Given the description of an element on the screen output the (x, y) to click on. 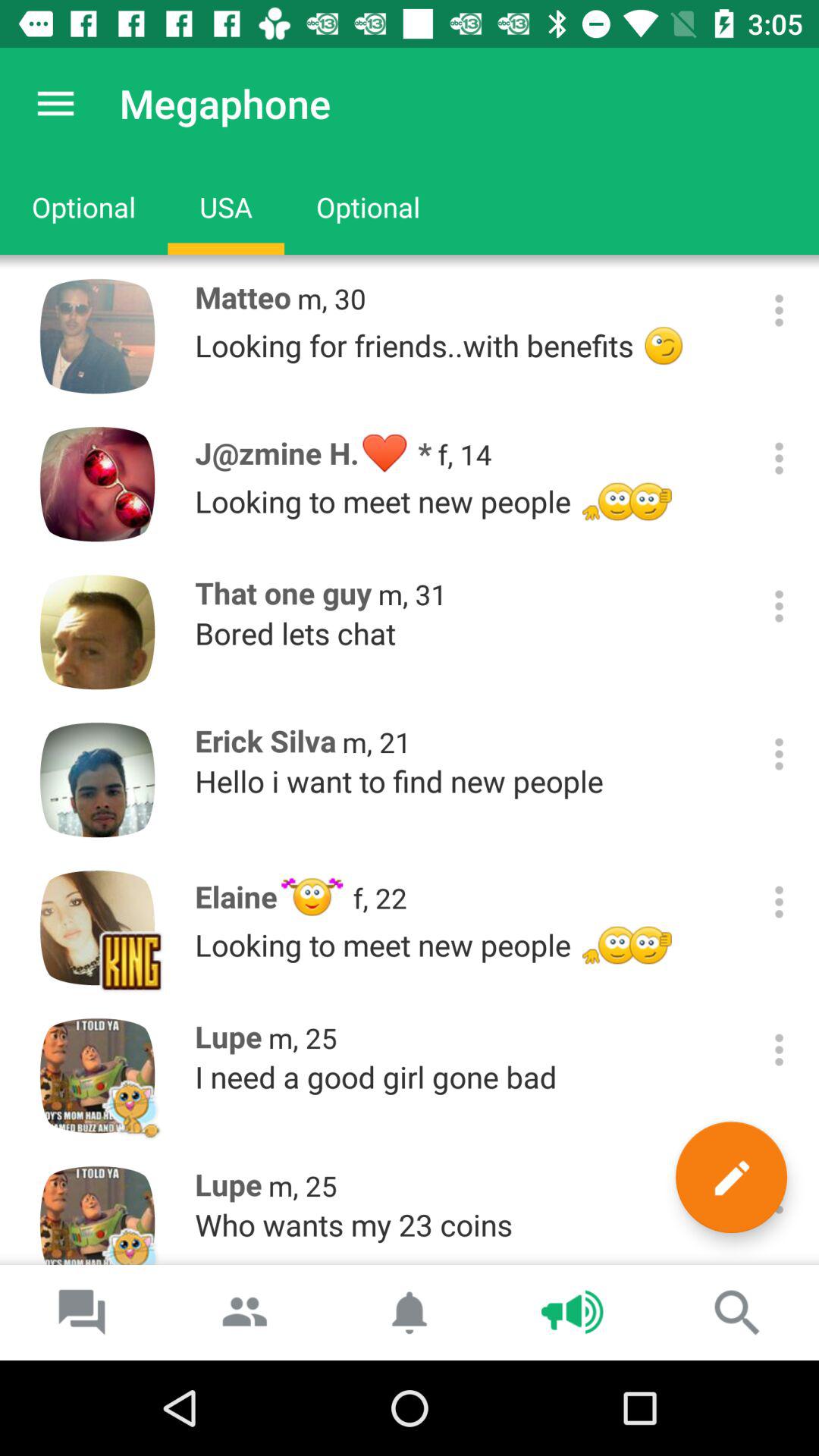
options for lupe (779, 1049)
